Given the description of an element on the screen output the (x, y) to click on. 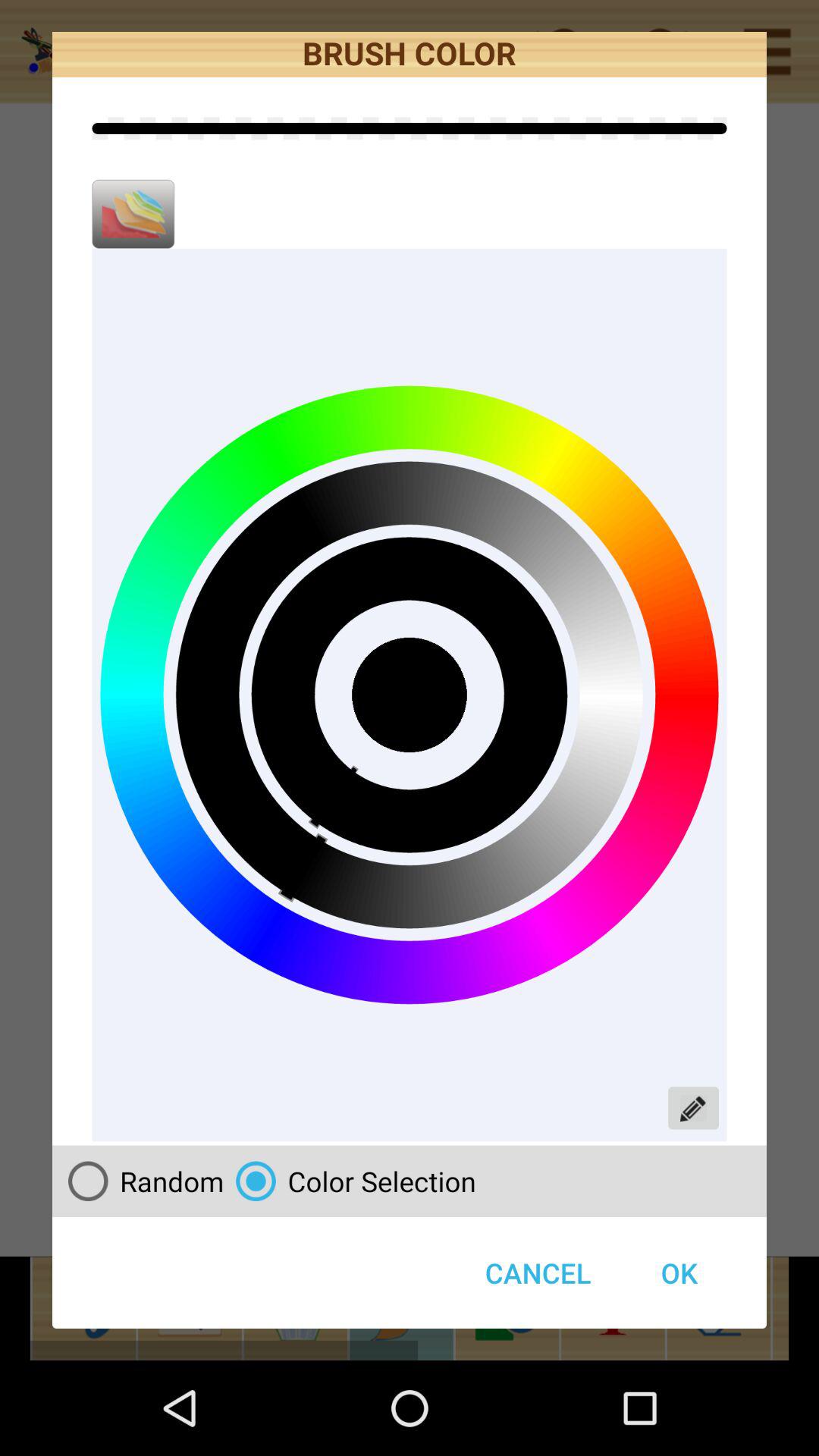
turn on the radio button next to the random radio button (350, 1181)
